Given the description of an element on the screen output the (x, y) to click on. 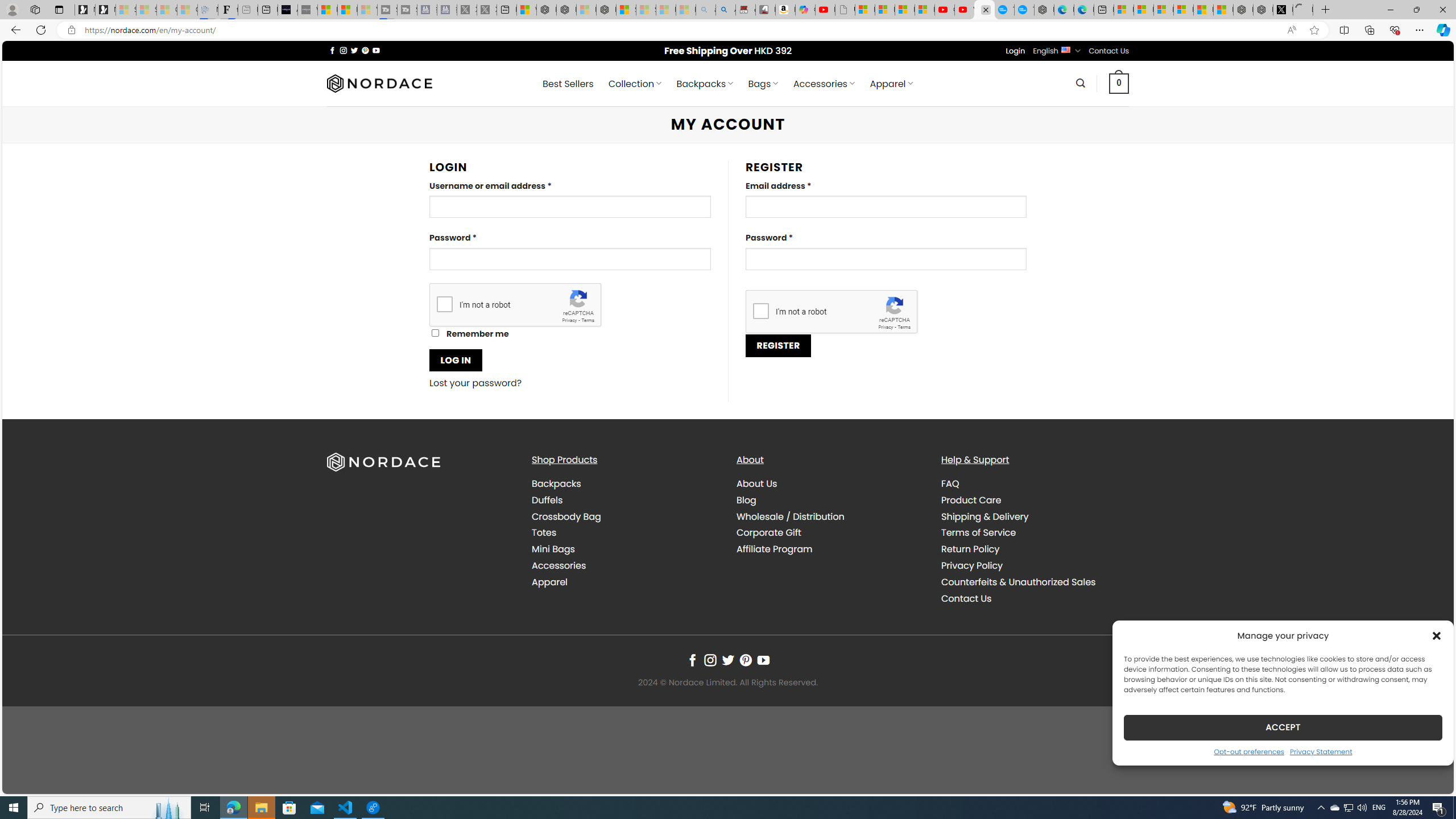
Affiliate Program (774, 549)
FAQ (1034, 483)
What's the best AI voice generator? - voice.ai - Sleeping (306, 9)
  Best Sellers (568, 83)
Totes (543, 532)
Backpacks (625, 483)
 Best Sellers (568, 83)
AI Voice Changer for PC and Mac - Voice.ai (287, 9)
